Given the description of an element on the screen output the (x, y) to click on. 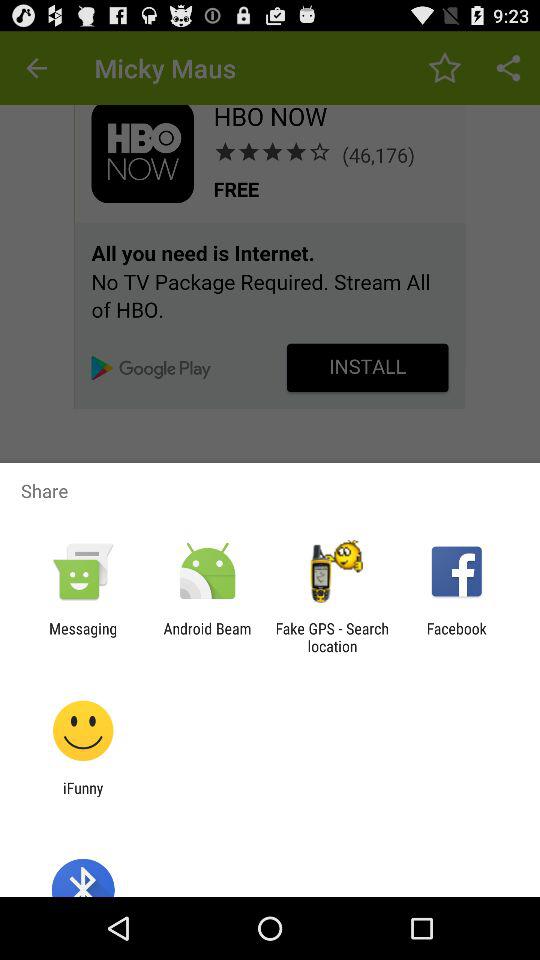
jump until the android beam icon (207, 637)
